Given the description of an element on the screen output the (x, y) to click on. 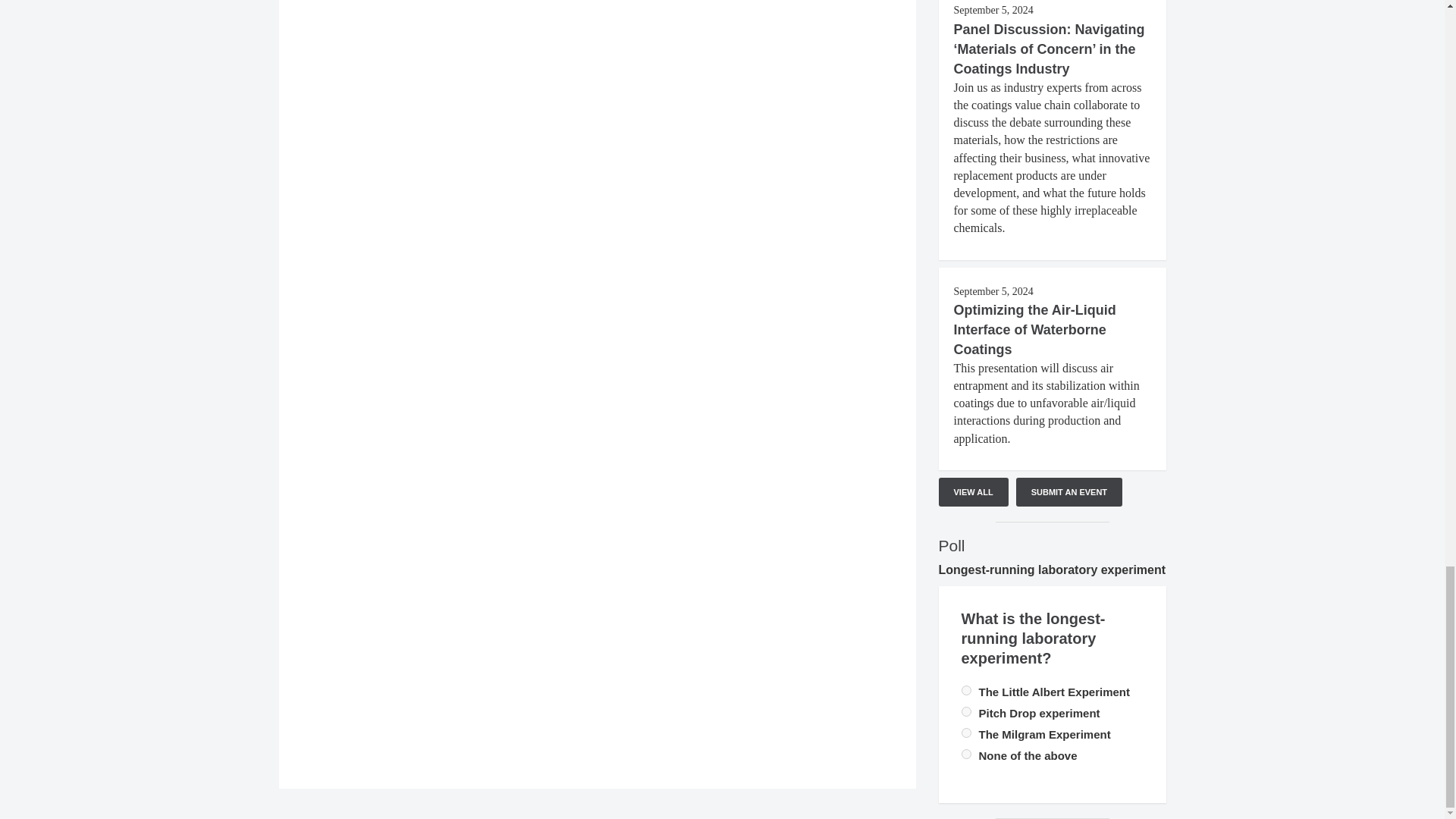
231 (965, 754)
233 (965, 690)
Optimizing the Air-Liquid Interface of Waterborne Coatings (1034, 329)
230 (965, 711)
232 (965, 732)
